Given the description of an element on the screen output the (x, y) to click on. 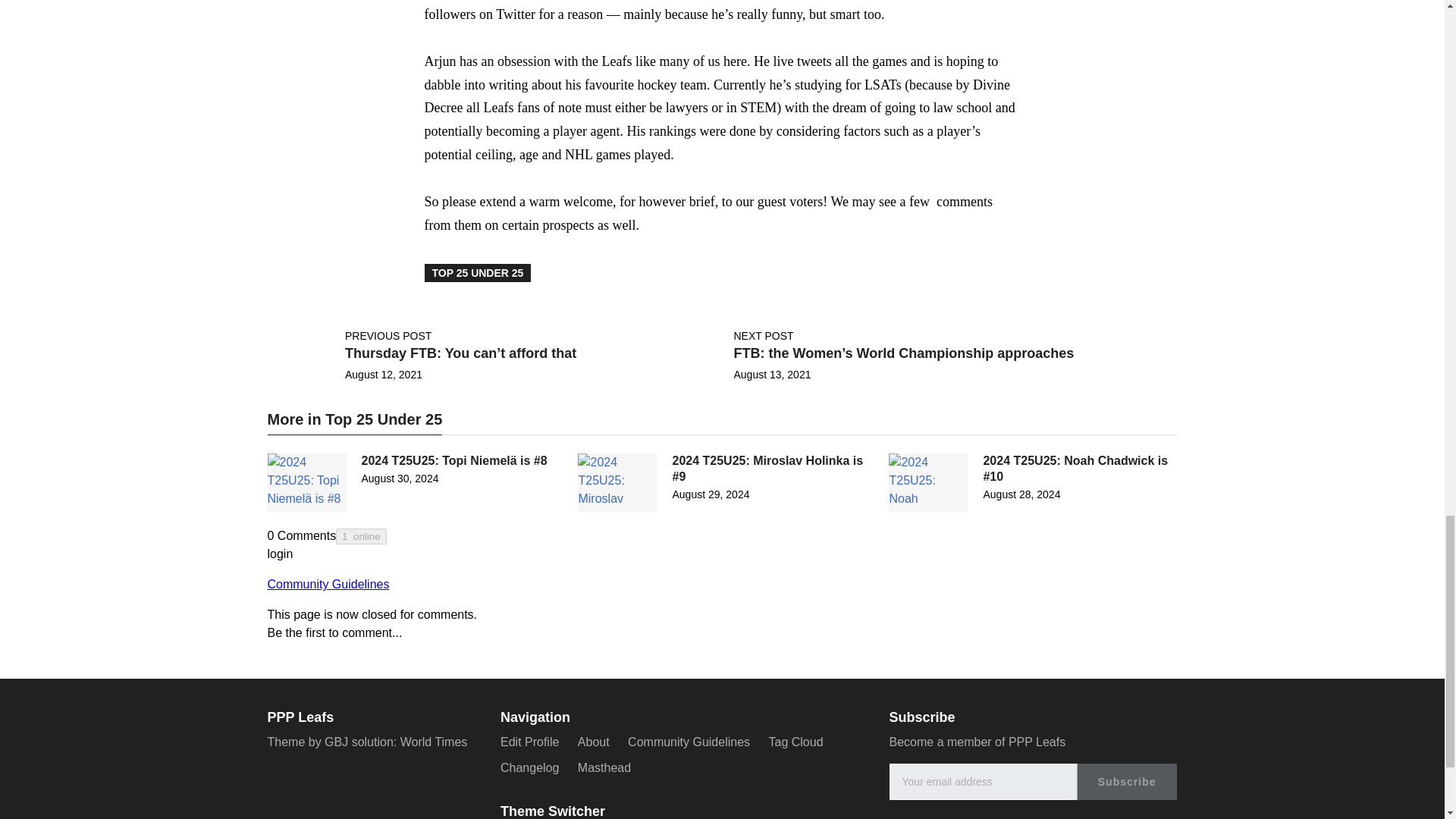
28 August, 2024 (1020, 494)
12 August, 2021 (383, 374)
13 August, 2021 (771, 374)
30 August, 2024 (399, 478)
29 August, 2024 (710, 494)
